Given the description of an element on the screen output the (x, y) to click on. 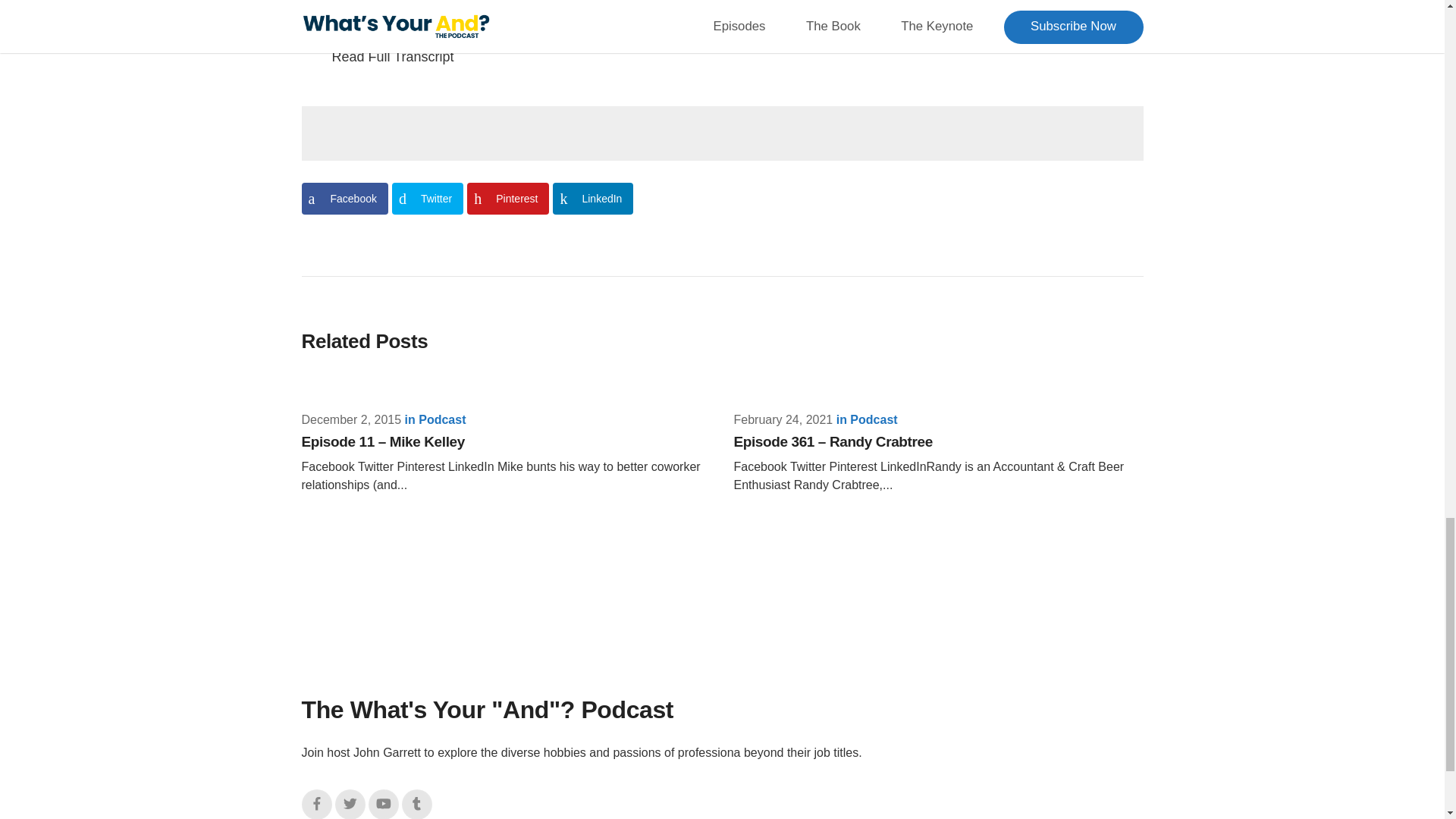
Facebook (316, 804)
Share on Pinterest (507, 198)
tumblr (416, 804)
Twitter (427, 198)
December 2, 2015 (351, 419)
Podcast (873, 419)
Facebook (344, 198)
Twitter (349, 804)
Pinterest (507, 198)
Podcast (442, 419)
LinkedIn (593, 198)
Share on Twitter (427, 198)
Share on Facebook (344, 198)
Read Full Transcript (736, 56)
Share on LinkedIn (593, 198)
